Given the description of an element on the screen output the (x, y) to click on. 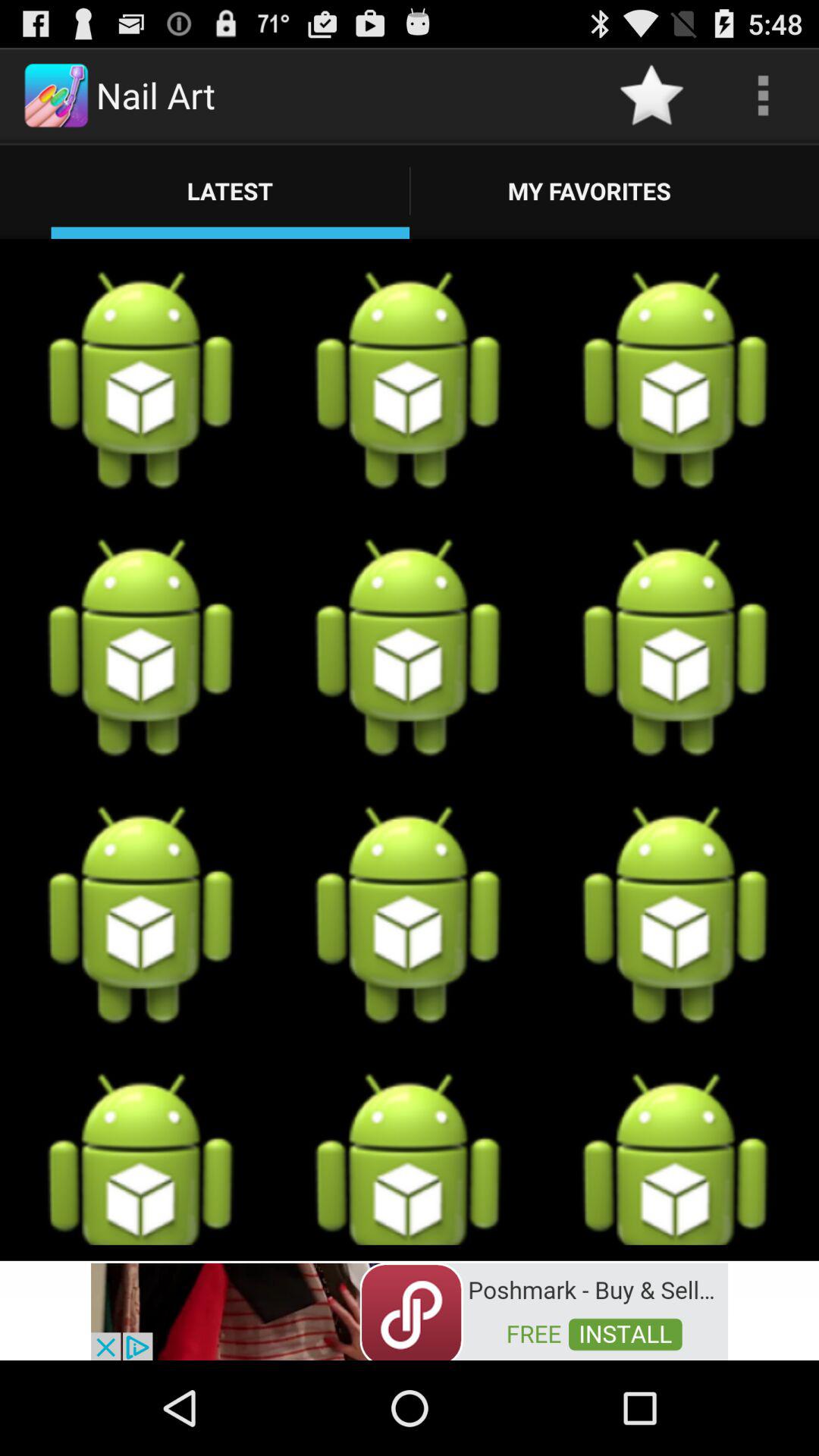
advertising (409, 1310)
